Given the description of an element on the screen output the (x, y) to click on. 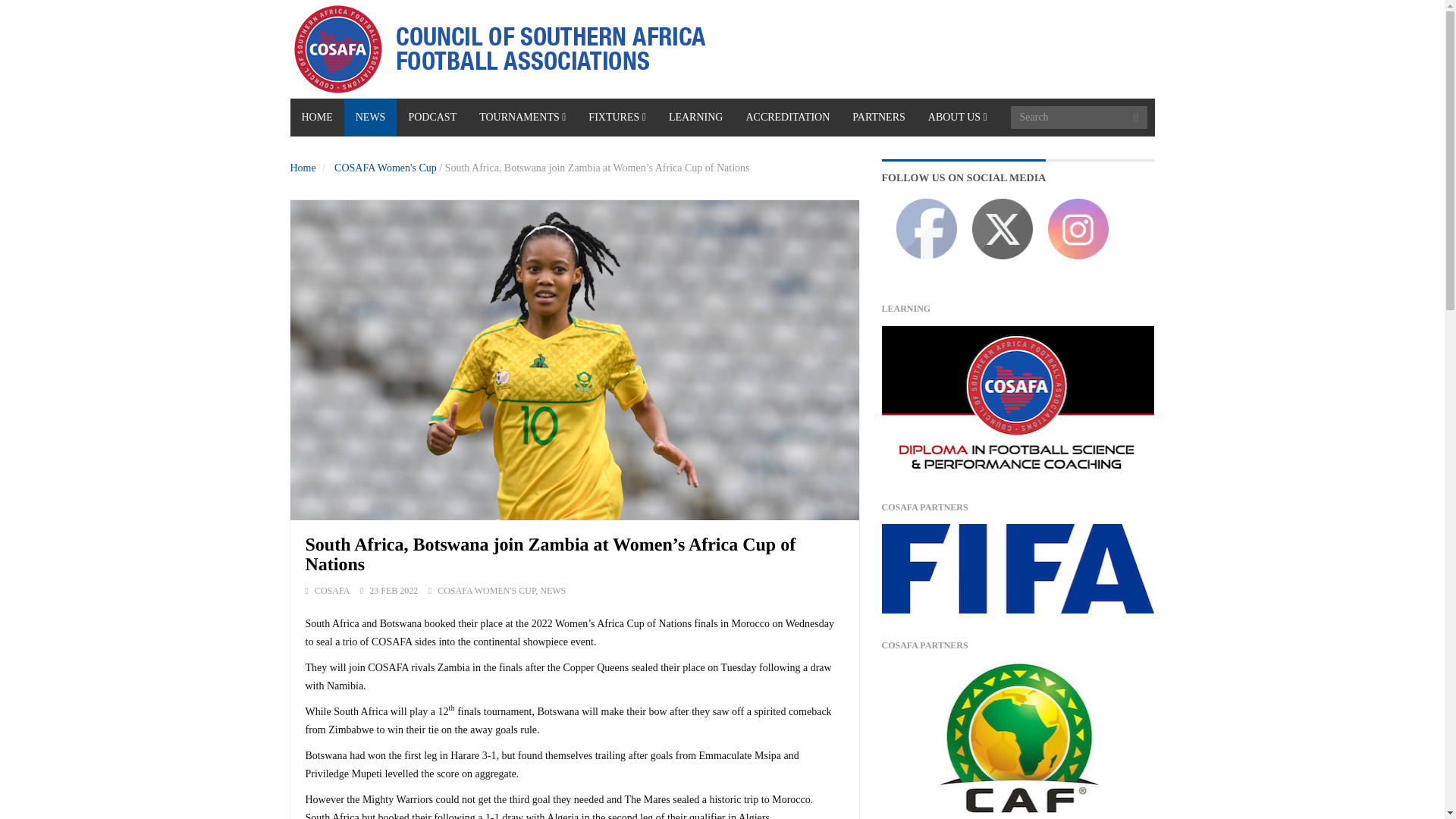
Posts by cosafa (331, 590)
Twitter (1002, 229)
Instagram (1078, 229)
HOME (316, 117)
Facebook (926, 229)
PODCAST (431, 117)
FIXTURES (617, 117)
TOURNAMENTS (521, 117)
NEWS (370, 117)
